Given the description of an element on the screen output the (x, y) to click on. 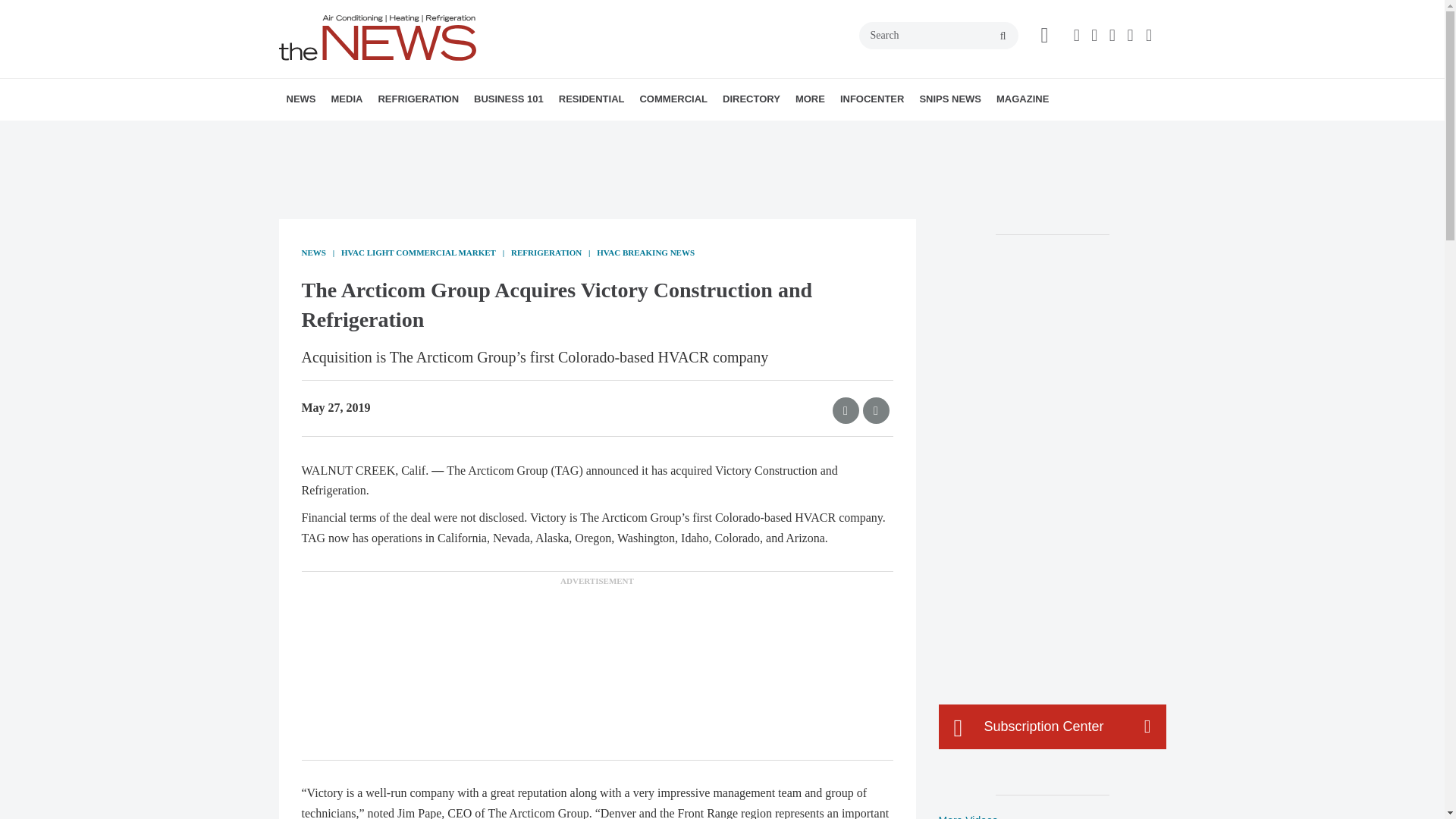
search (1002, 36)
REFRIGERANTS (464, 132)
BREAKING NEWS (373, 132)
VIDEOS (417, 132)
MEDIA (346, 98)
REFRIGERATION (417, 98)
WEBINARS (436, 132)
THE NEWS HVACR QUIZ (445, 132)
BUSINESS 101 (508, 98)
REFRIGERANT REGULATIONS (472, 132)
